Given the description of an element on the screen output the (x, y) to click on. 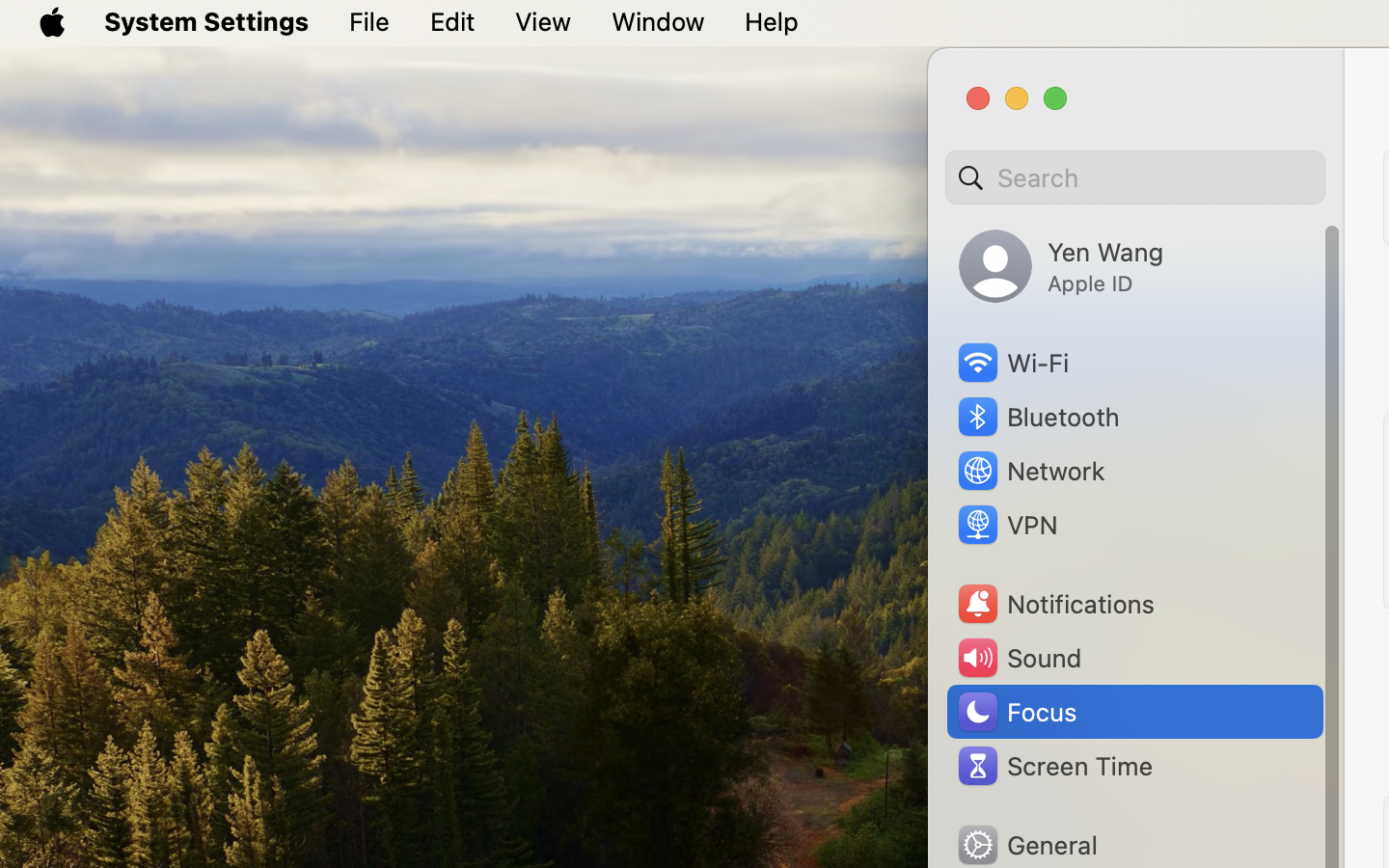
VPN Element type: AXStaticText (1005, 524)
Network Element type: AXStaticText (1029, 470)
Bluetooth Element type: AXStaticText (1037, 416)
Wi‑Fi Element type: AXStaticText (1011, 362)
Screen Time Element type: AXStaticText (1053, 765)
